Given the description of an element on the screen output the (x, y) to click on. 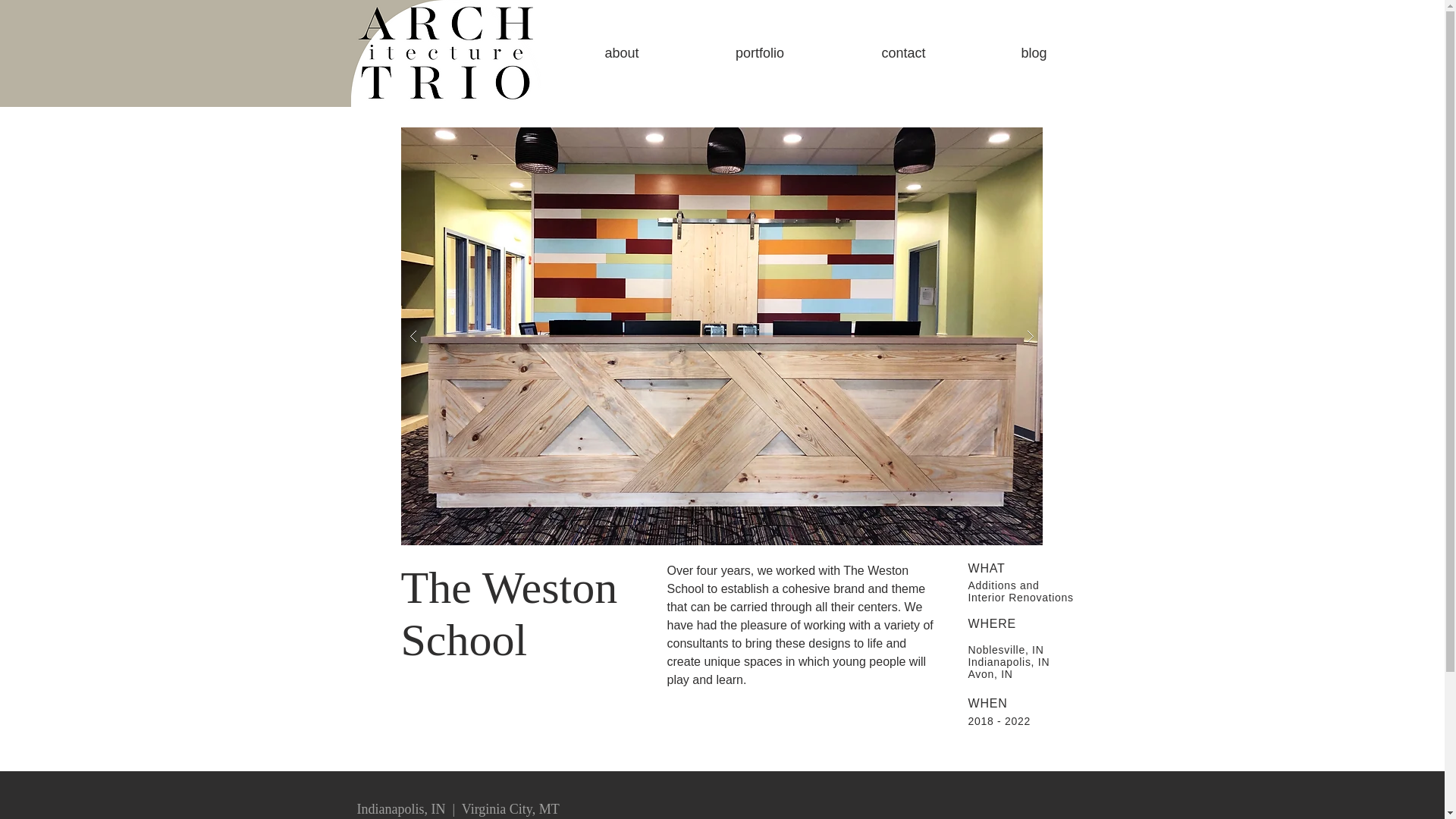
contact (903, 53)
blog (1033, 53)
about (620, 53)
portfolio (759, 53)
